Given the description of an element on the screen output the (x, y) to click on. 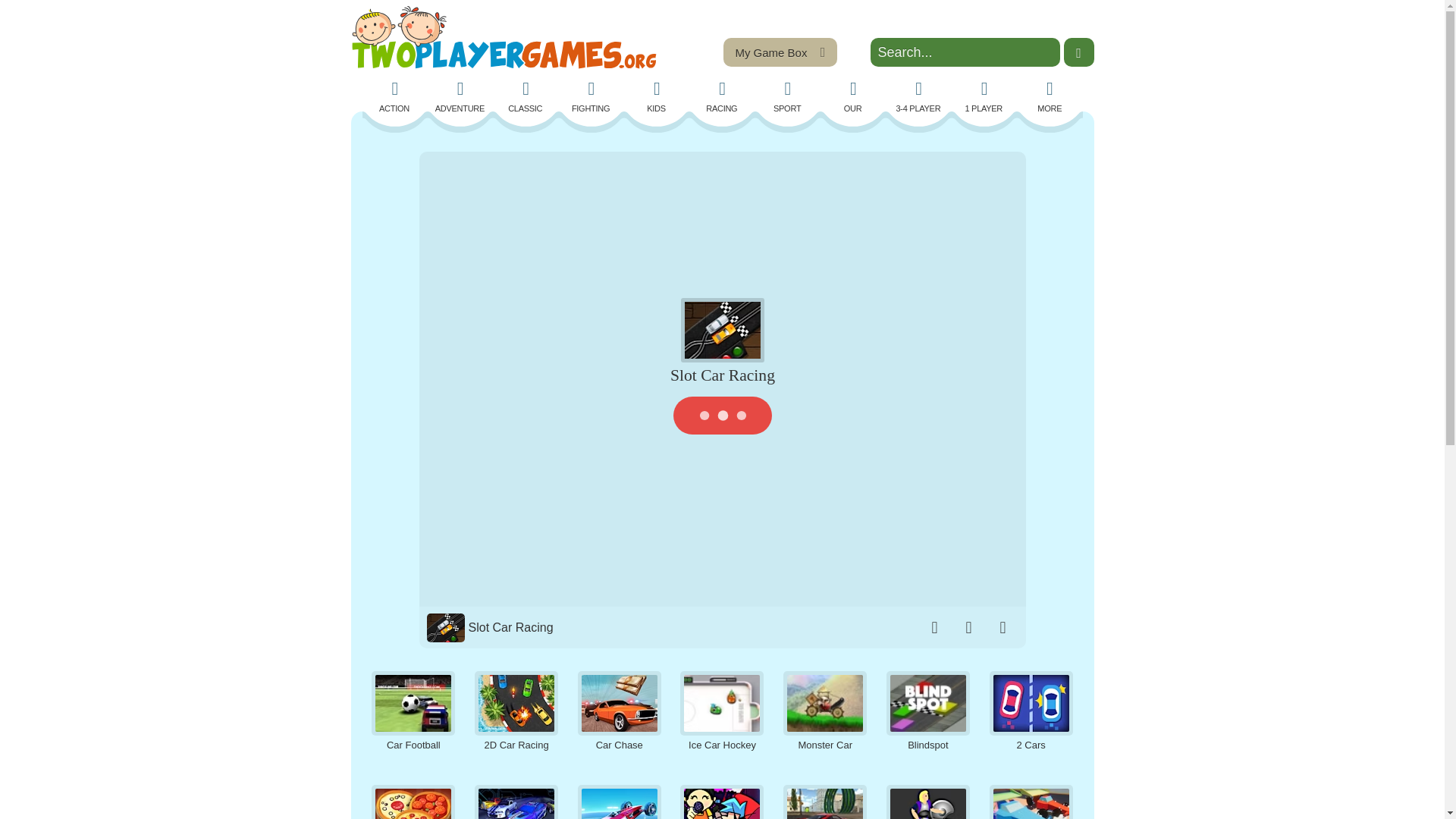
3-4 PLAYER (917, 97)
OUR (853, 97)
SPORT (788, 97)
Our Games (853, 97)
Racing Games (721, 97)
1 Player Games (984, 97)
MORE (1048, 97)
Action Games (395, 97)
CLASSIC (525, 97)
Fighting Games (591, 97)
Game search (964, 51)
RACING (721, 97)
FIGHTING (591, 97)
Kids Games (656, 97)
ADVENTURE (460, 97)
